Given the description of an element on the screen output the (x, y) to click on. 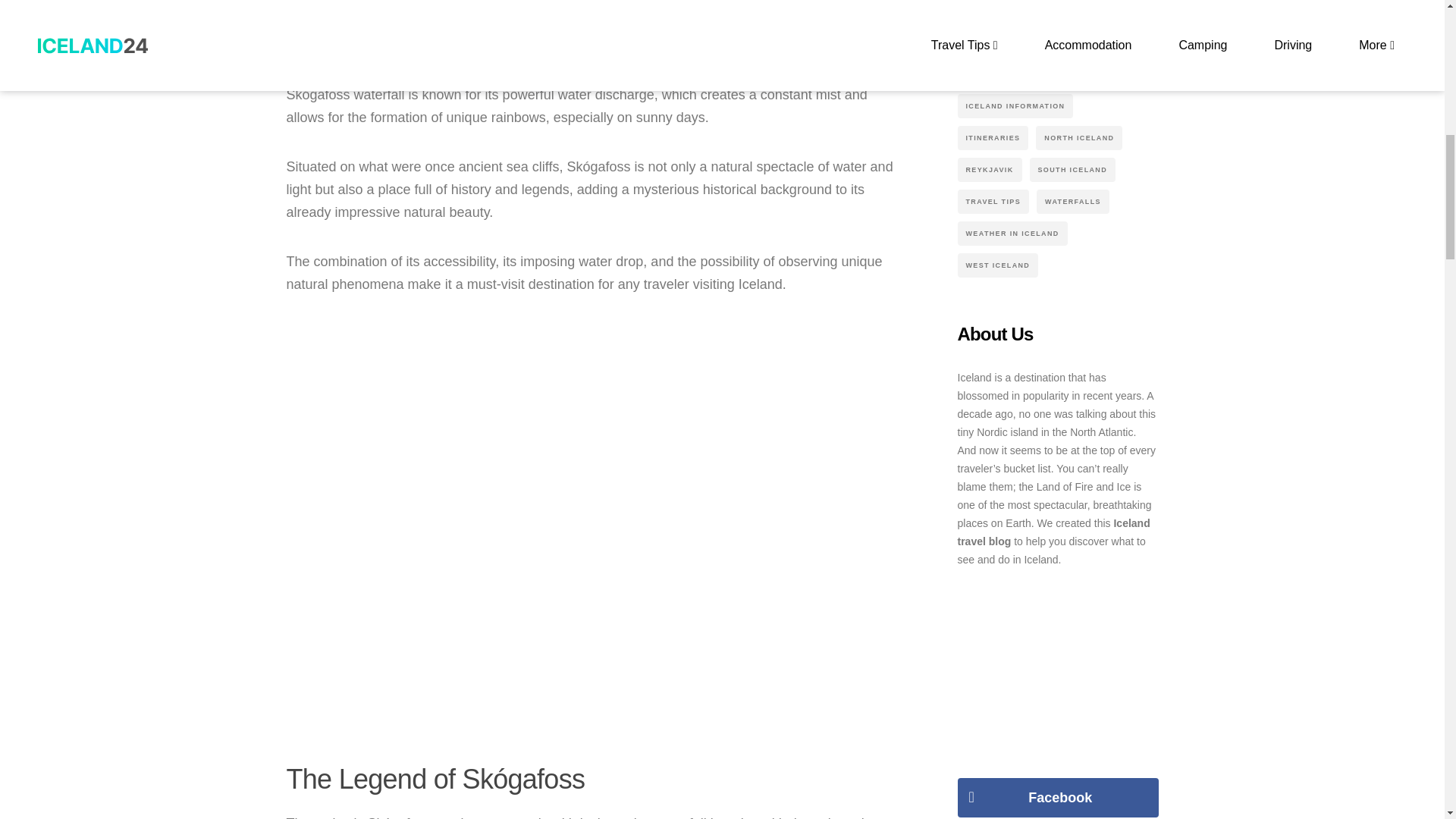
ICELANDIC CULTURE (1009, 74)
REYKJAVIK (989, 169)
NORTH ICELAND (1078, 137)
WEATHER IN ICELAND (1011, 233)
TRAVEL TIPS (992, 201)
HIGHLANDS (989, 11)
SOUTH ICELAND (1072, 169)
ICELAND INFORMATION (1014, 105)
ICELANDIC CUISINE (1007, 42)
HOT SPRINGS (1068, 11)
